Given the description of an element on the screen output the (x, y) to click on. 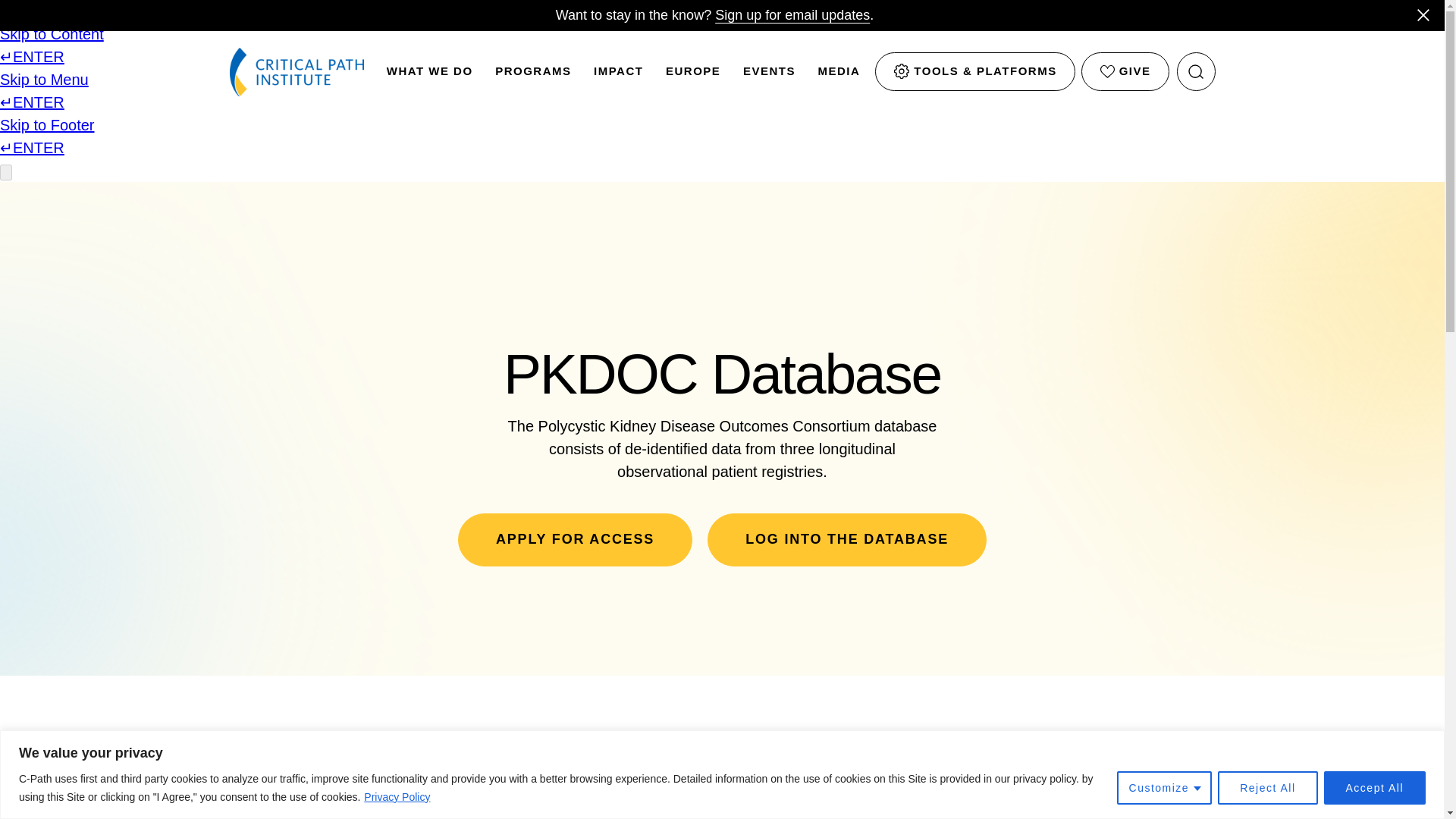
EVENTS (768, 75)
Privacy Policy (396, 796)
Customize (1164, 786)
Apply for Access (575, 538)
GIVE (1125, 71)
Reject All (1267, 786)
PROGRAMS (532, 75)
LOG INTO THE DATABASE (847, 538)
Accept All (1374, 786)
IMPACT (618, 75)
Sign up for email updates (791, 14)
MEDIA (839, 75)
APPLY FOR ACCESS (575, 538)
WHAT WE DO (430, 75)
EUROPE (692, 75)
